Given the description of an element on the screen output the (x, y) to click on. 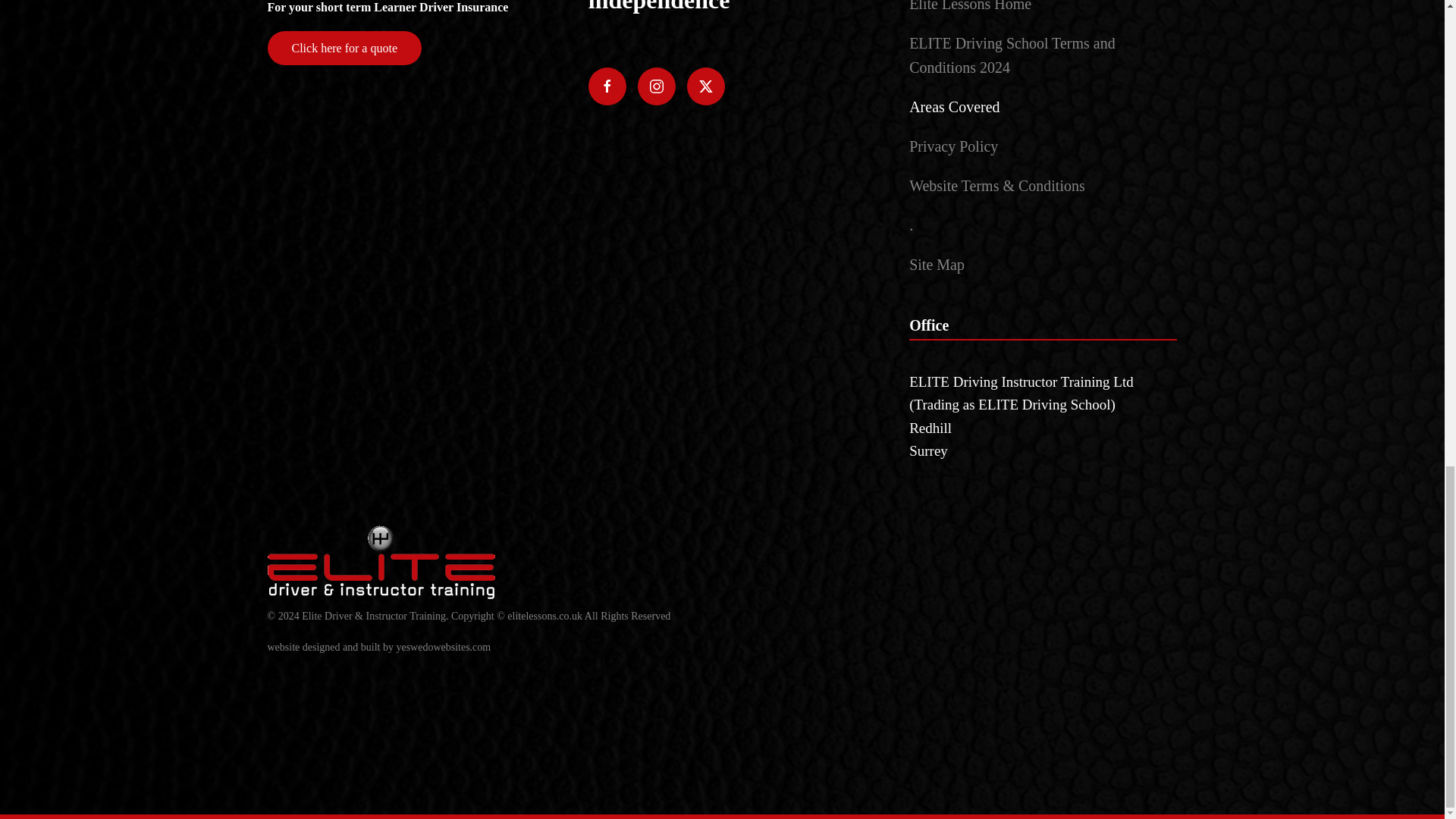
Click here for a quote (344, 48)
